Given the description of an element on the screen output the (x, y) to click on. 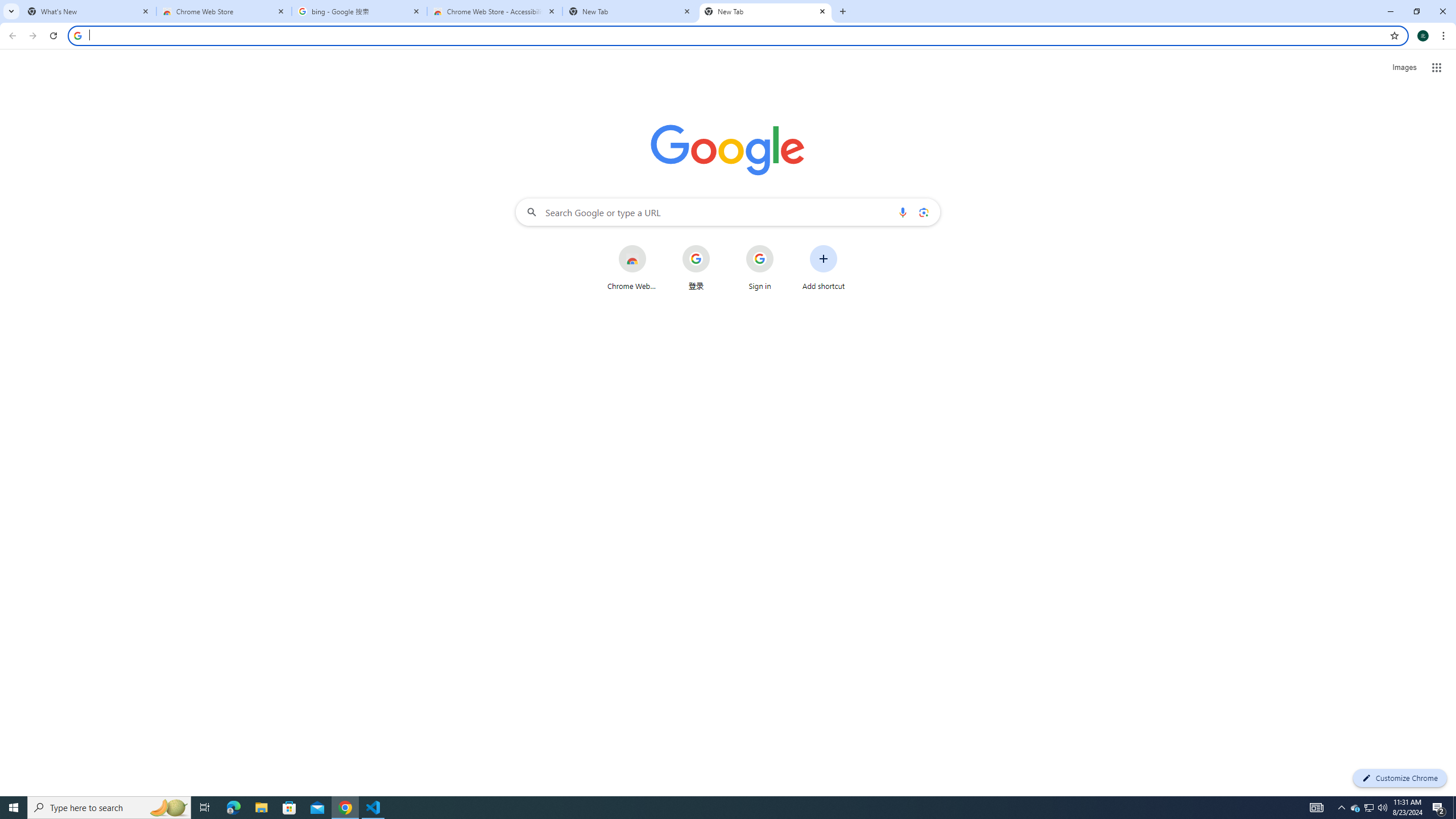
New Tab (630, 11)
Address and search bar (735, 35)
Search Google or type a URL (727, 212)
New Tab (765, 11)
Search by image (922, 212)
